Given the description of an element on the screen output the (x, y) to click on. 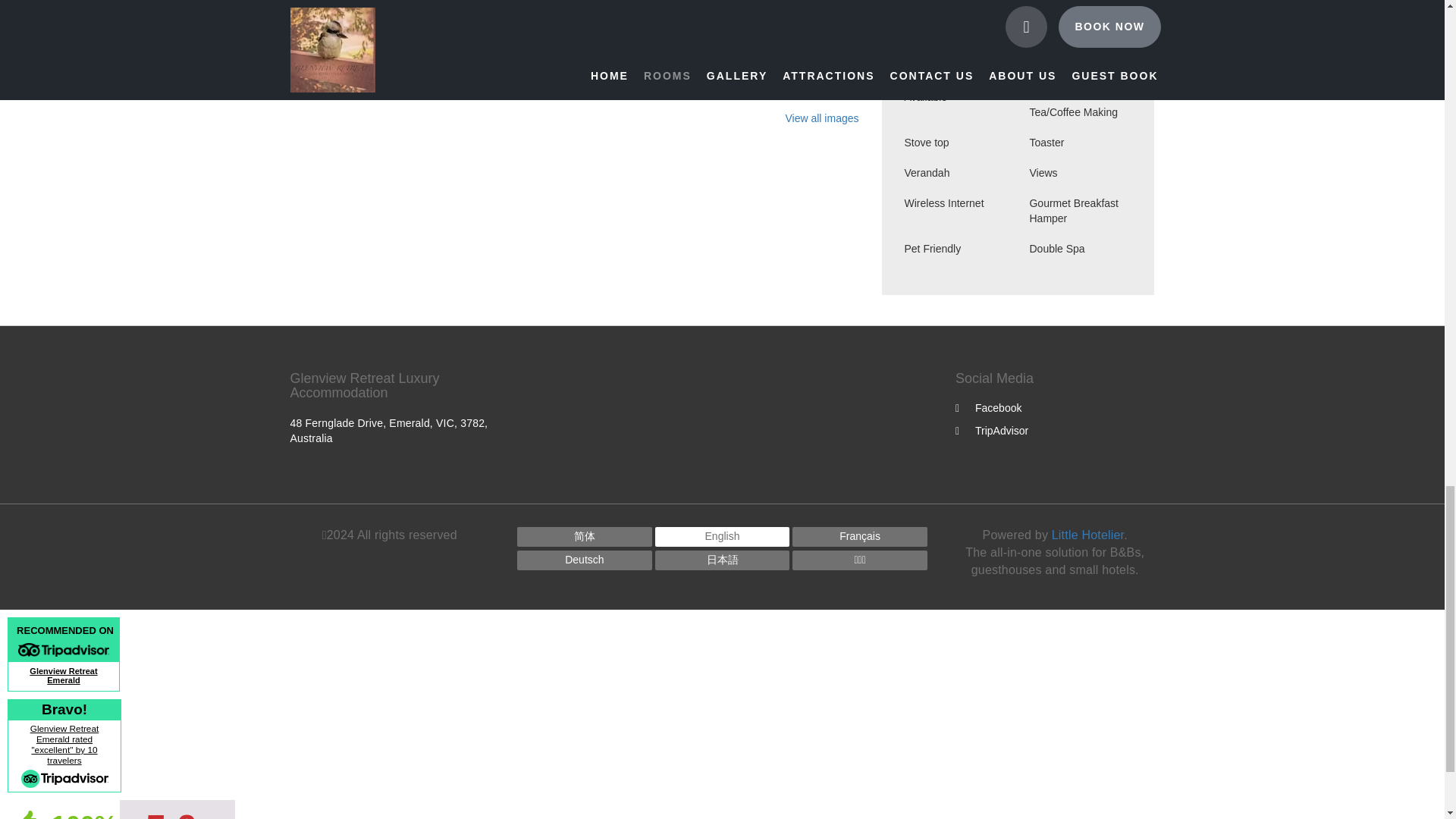
View all images (821, 118)
Facebook (988, 408)
48 Fernglade Drive, Emerald, VIC, 3782, Australia (388, 430)
TripAdvisor (991, 430)
